Given the description of an element on the screen output the (x, y) to click on. 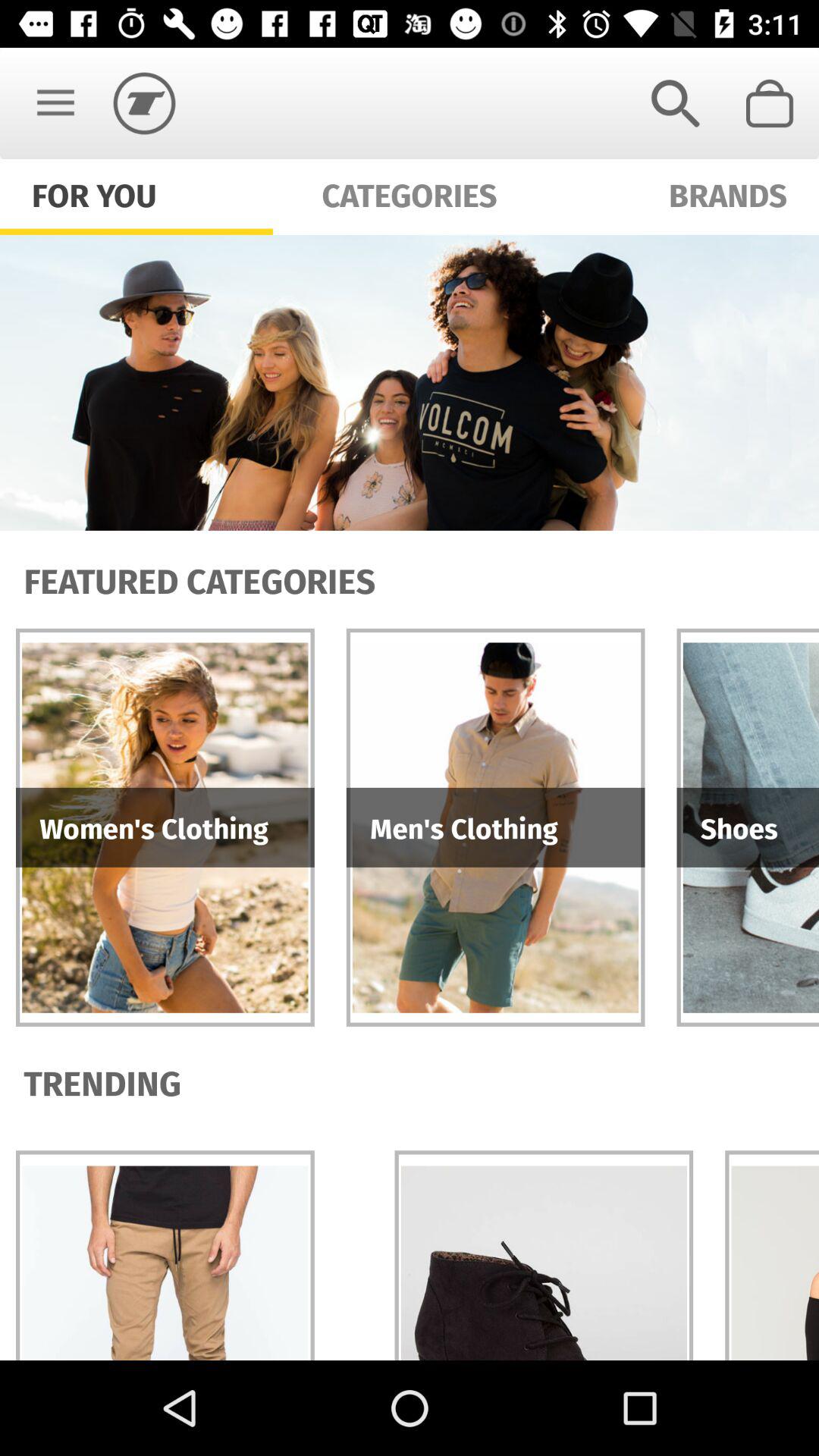
open item next to categories icon (675, 103)
